Given the description of an element on the screen output the (x, y) to click on. 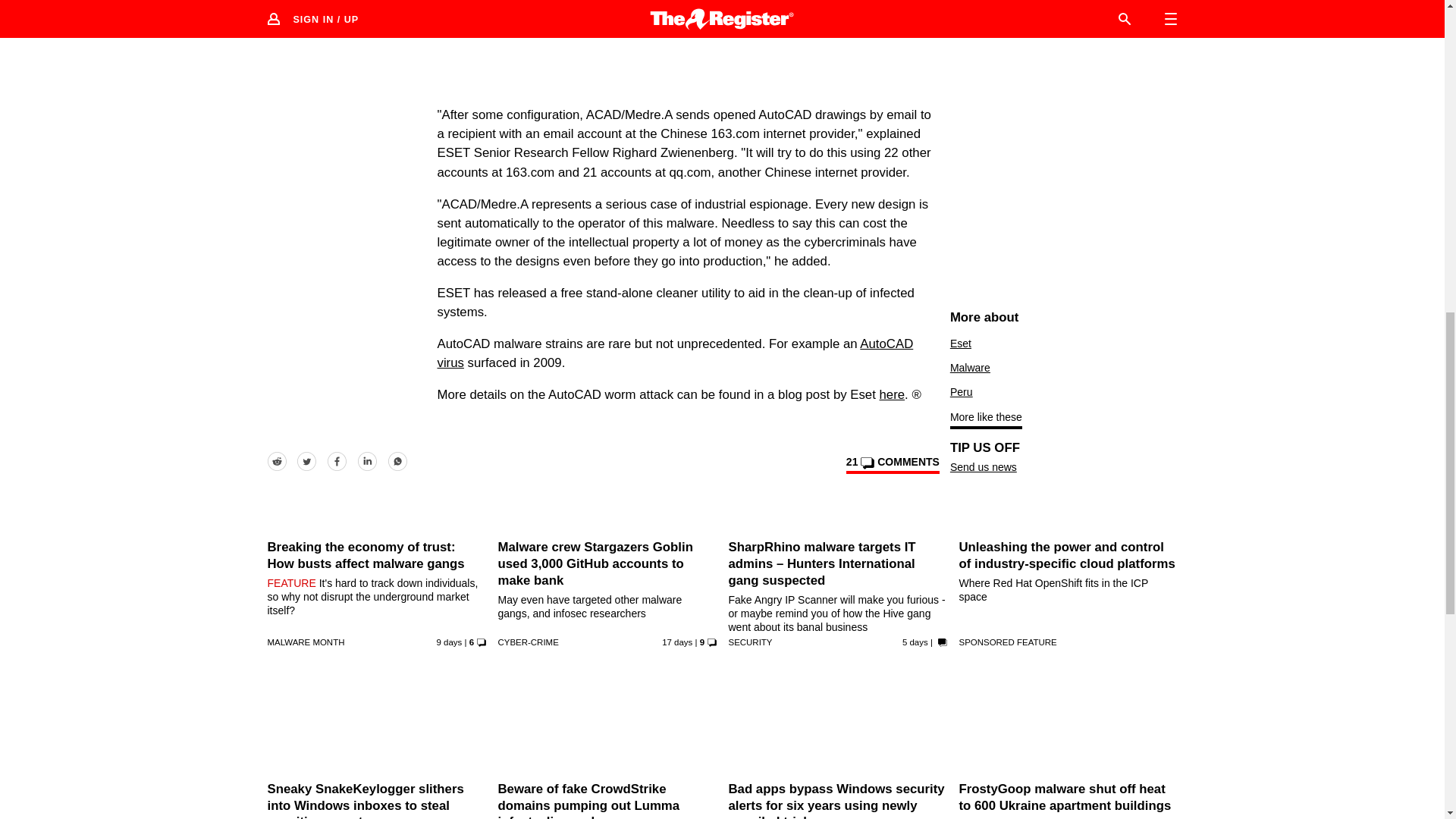
2 Aug 2024 14:44 (449, 642)
7 Aug 2024 5:29 (915, 642)
View comments on this article (892, 464)
26 Jul 2024 1:34 (677, 642)
